Given the description of an element on the screen output the (x, y) to click on. 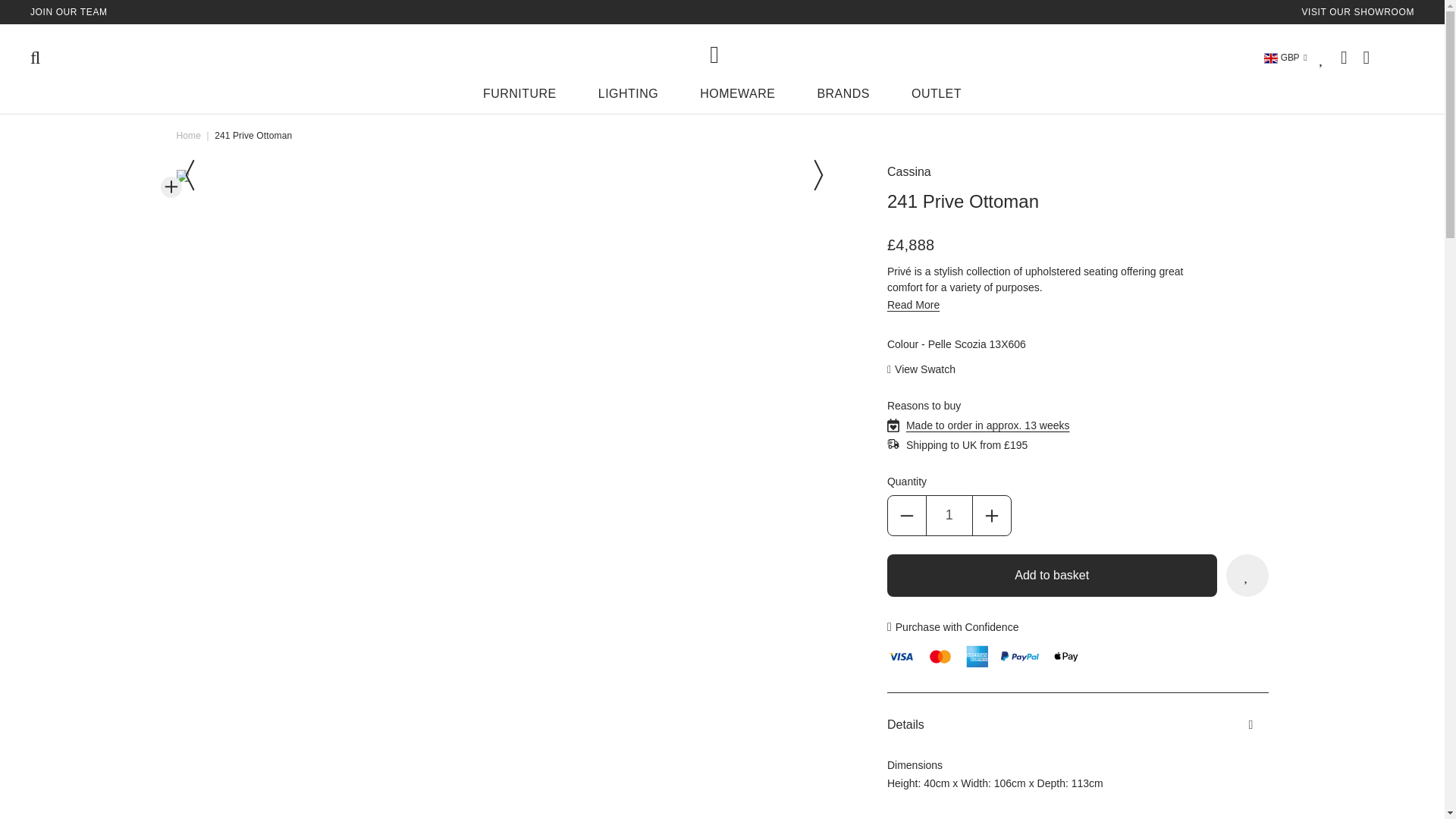
1 (949, 515)
GBP (1285, 57)
JOIN OUR TEAM (68, 11)
FURNITURE (519, 97)
Made to order in approx. 13 weeks (987, 425)
VISIT OUR SHOWROOM (1357, 11)
